Given the description of an element on the screen output the (x, y) to click on. 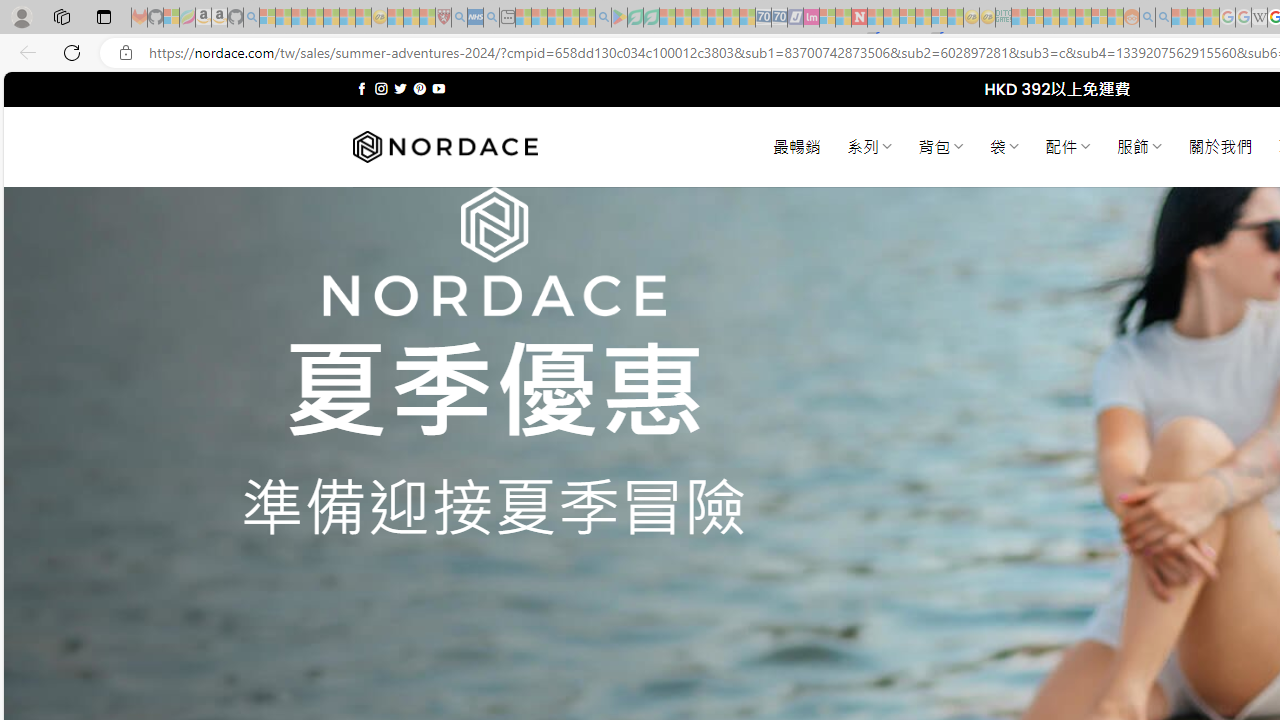
Follow on YouTube (438, 88)
Follow on Twitter (400, 88)
Follow on Facebook (361, 88)
MSNBC - MSN - Sleeping (1019, 17)
